Given the description of an element on the screen output the (x, y) to click on. 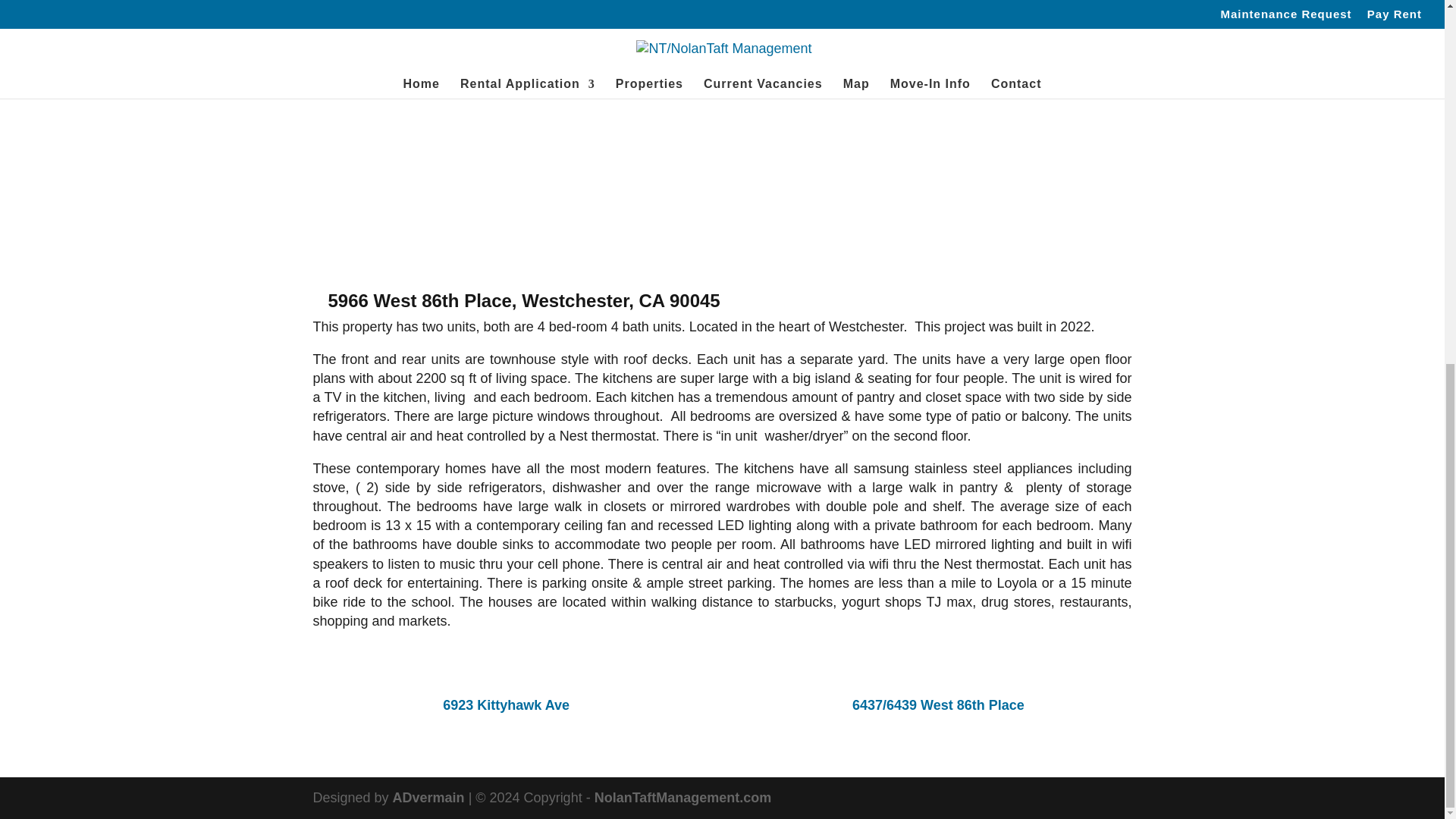
NolanTaftManagement.com (682, 797)
6923 Kittyhawk Ave (505, 704)
ADvermain (428, 797)
6923 Kittyhawk Ave (505, 704)
